Given the description of an element on the screen output the (x, y) to click on. 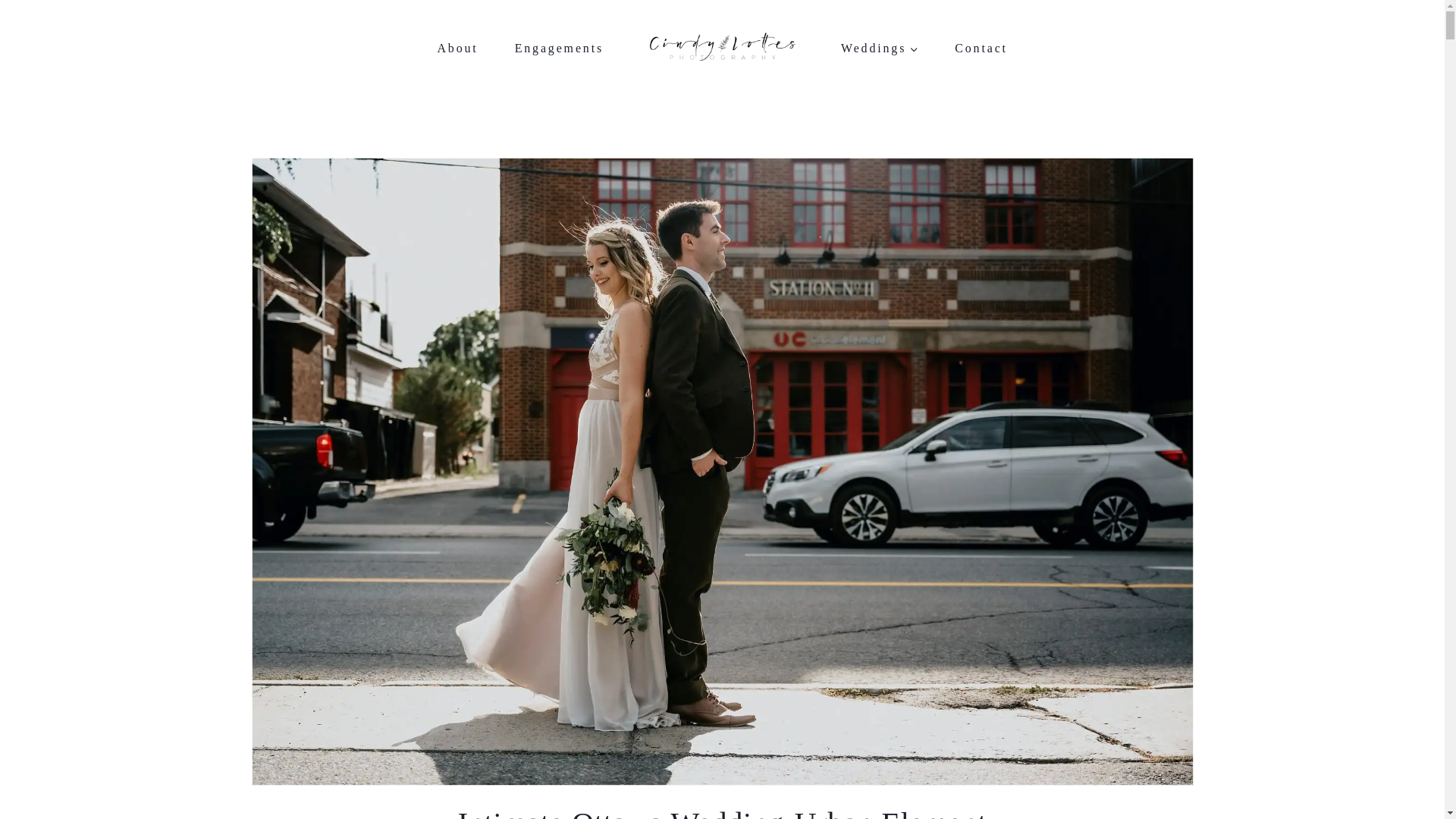
About (457, 47)
Weddings (879, 48)
Engagements (558, 47)
Contact (981, 48)
